Given the description of an element on the screen output the (x, y) to click on. 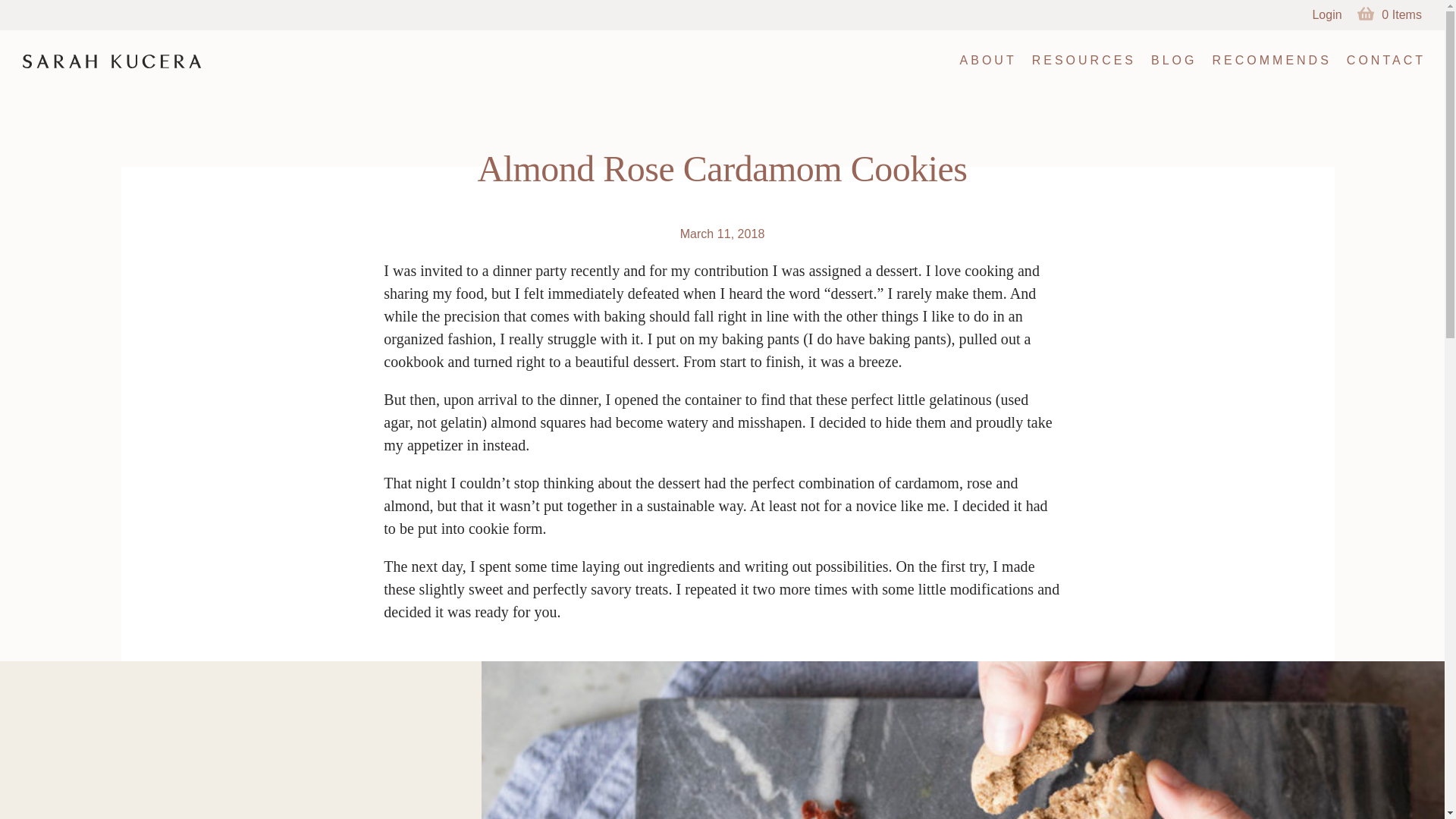
RESOURCES (1083, 59)
RECOMMENDS (1271, 59)
ABOUT (988, 59)
0 Items (1385, 18)
BLOG (1173, 59)
CONTACT (1385, 59)
Login (1326, 18)
